Given the description of an element on the screen output the (x, y) to click on. 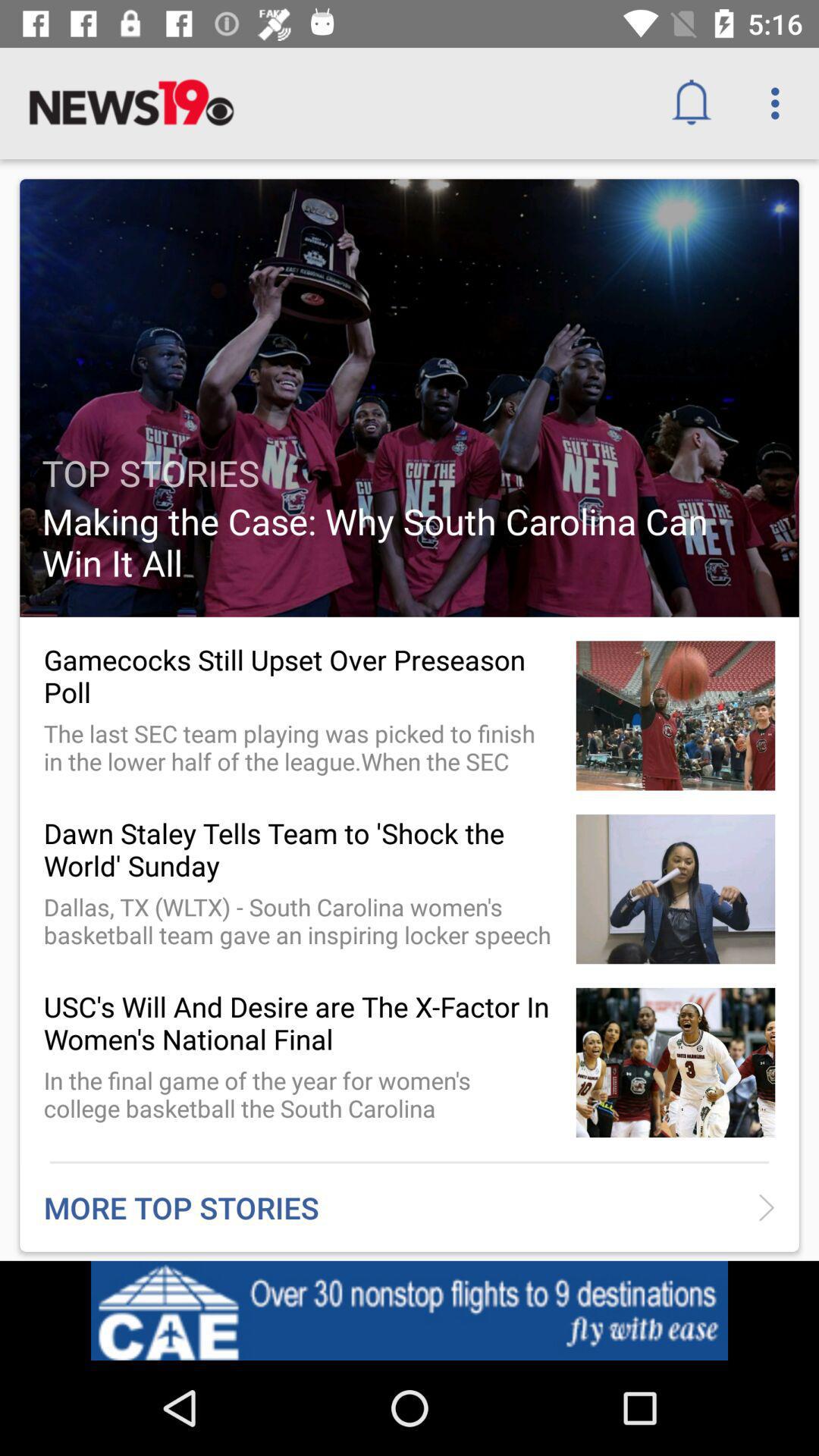
view advertisement (409, 1310)
